Given the description of an element on the screen output the (x, y) to click on. 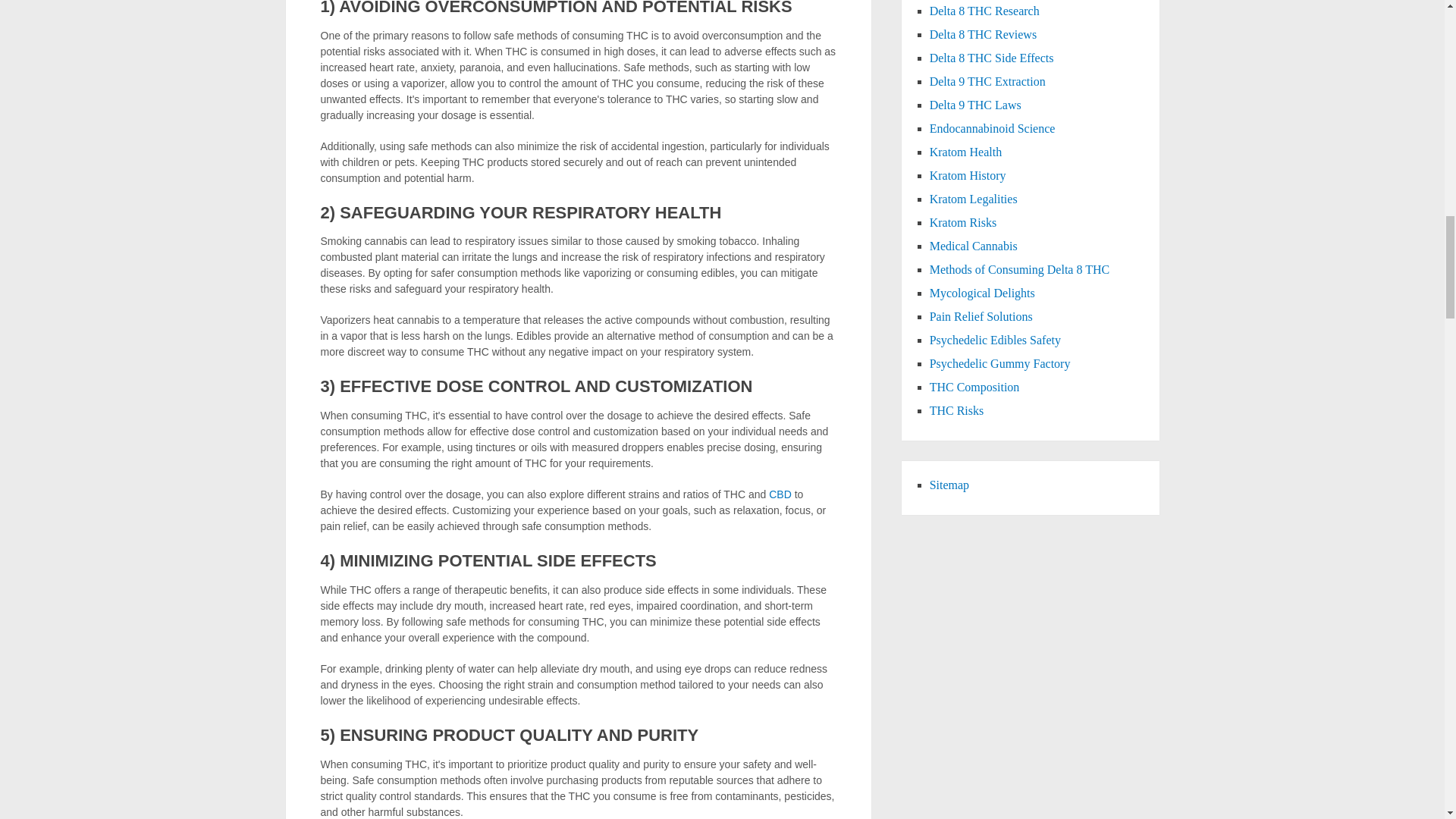
CBD (780, 494)
